Given the description of an element on the screen output the (x, y) to click on. 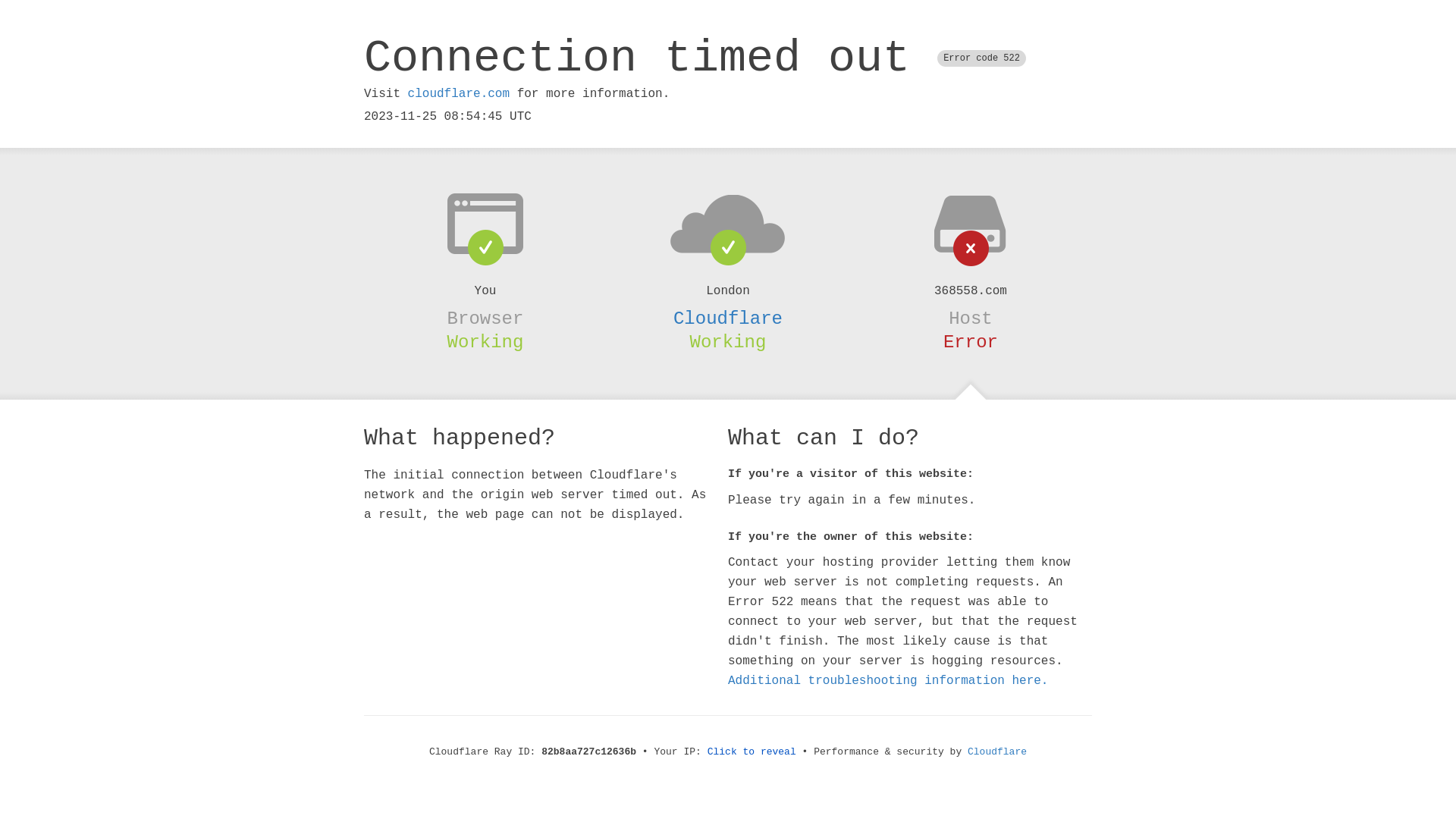
cloudflare.com Element type: text (458, 93)
Cloudflare Element type: text (996, 751)
Cloudflare Element type: text (727, 318)
Click to reveal Element type: text (751, 751)
Additional troubleshooting information here. Element type: text (888, 680)
